Given the description of an element on the screen output the (x, y) to click on. 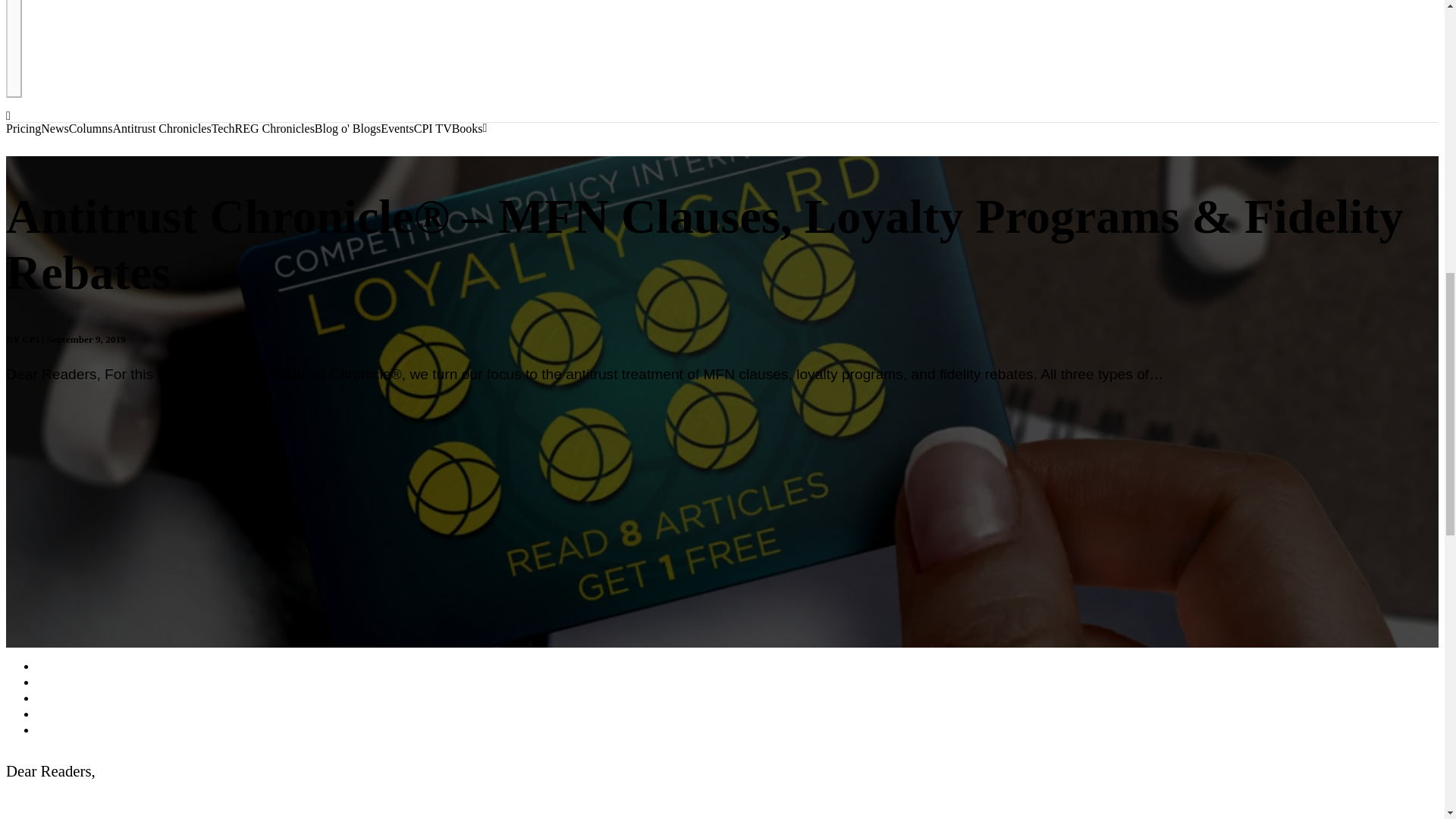
Pricing (22, 128)
News (54, 128)
Columns (90, 128)
Events (396, 128)
Books (467, 128)
Posts by CPI (30, 338)
Antitrust Chronicles (161, 128)
Blog o' Blogs (347, 128)
CPI (30, 338)
CPI TV (432, 128)
TechREG Chronicles (262, 128)
